Given the description of an element on the screen output the (x, y) to click on. 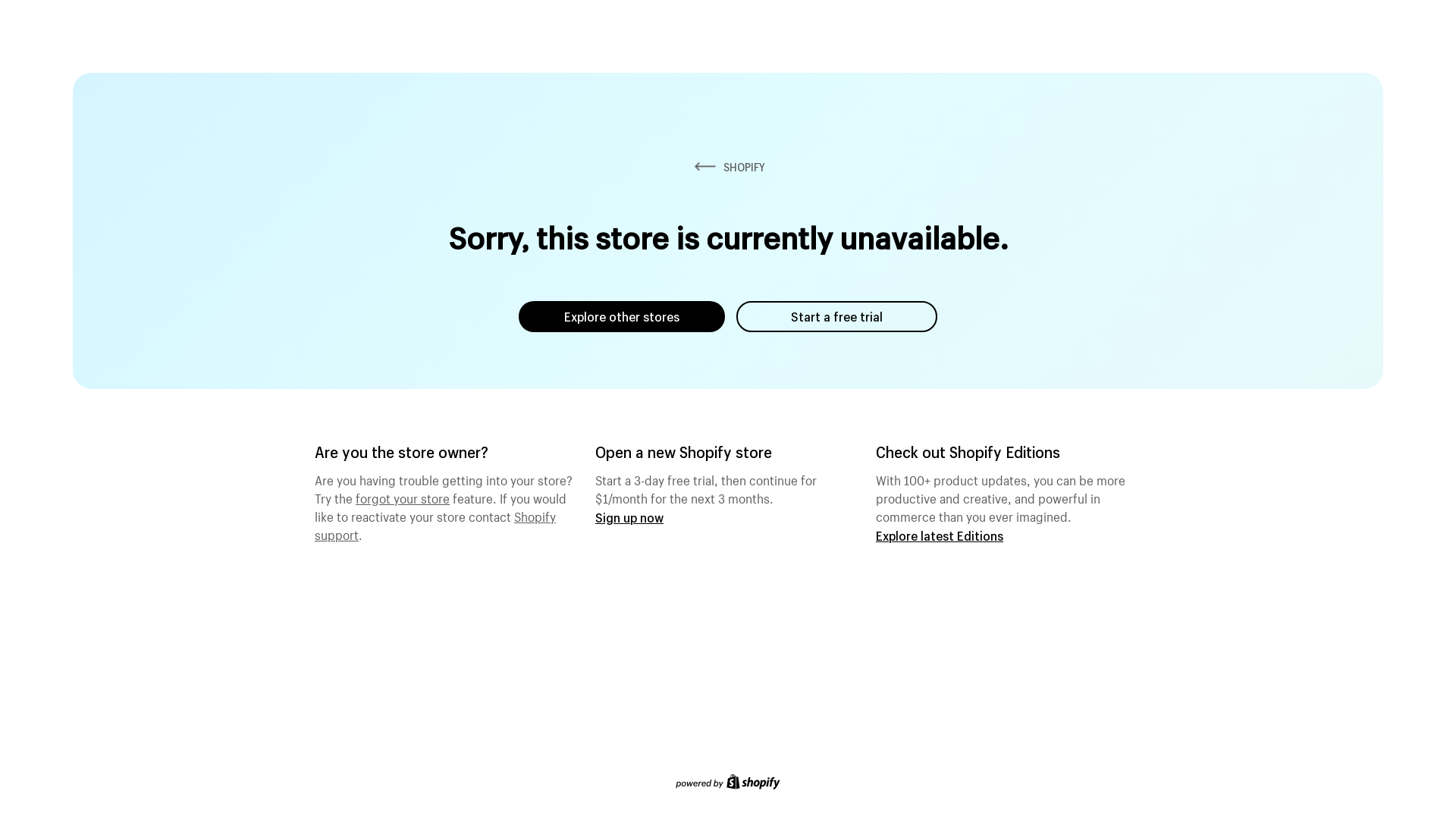
Start a free trial Element type: text (836, 316)
Explore latest Editions Element type: text (939, 535)
forgot your store Element type: text (402, 496)
Explore other stores Element type: text (621, 316)
SHOPIFY Element type: text (727, 167)
Shopify support Element type: text (434, 523)
Sign up now Element type: text (629, 517)
